Given the description of an element on the screen output the (x, y) to click on. 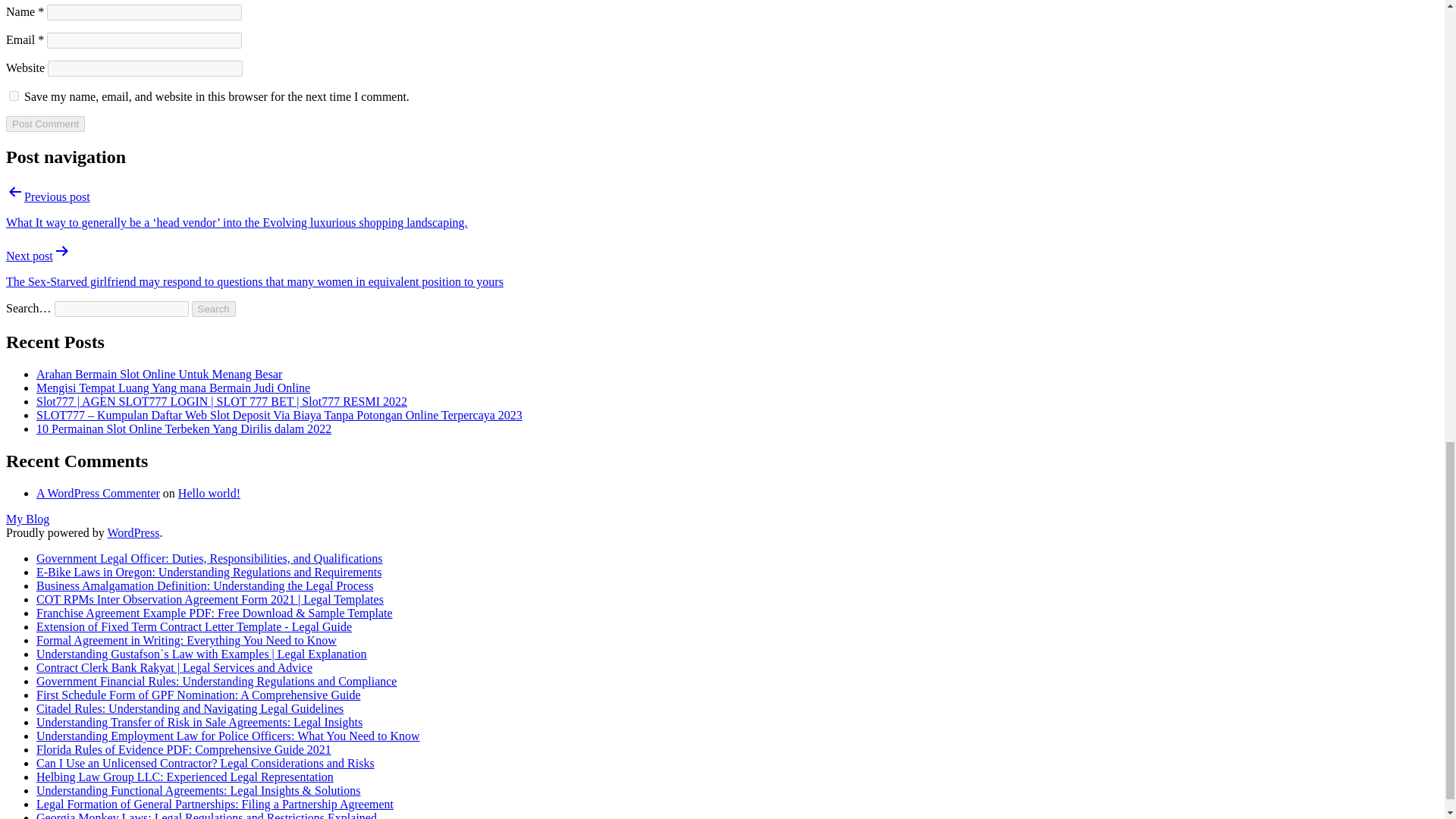
WordPress (132, 532)
Post Comment (44, 123)
Post Comment (44, 123)
10 Permainan Slot Online Terbeken Yang Dirilis dalam 2022 (183, 428)
Search (213, 308)
Helbing Law Group LLC: Experienced Legal Representation (184, 776)
A WordPress Commenter (98, 492)
Citadel Rules: Understanding and Navigating Legal Guidelines (189, 707)
